Given the description of an element on the screen output the (x, y) to click on. 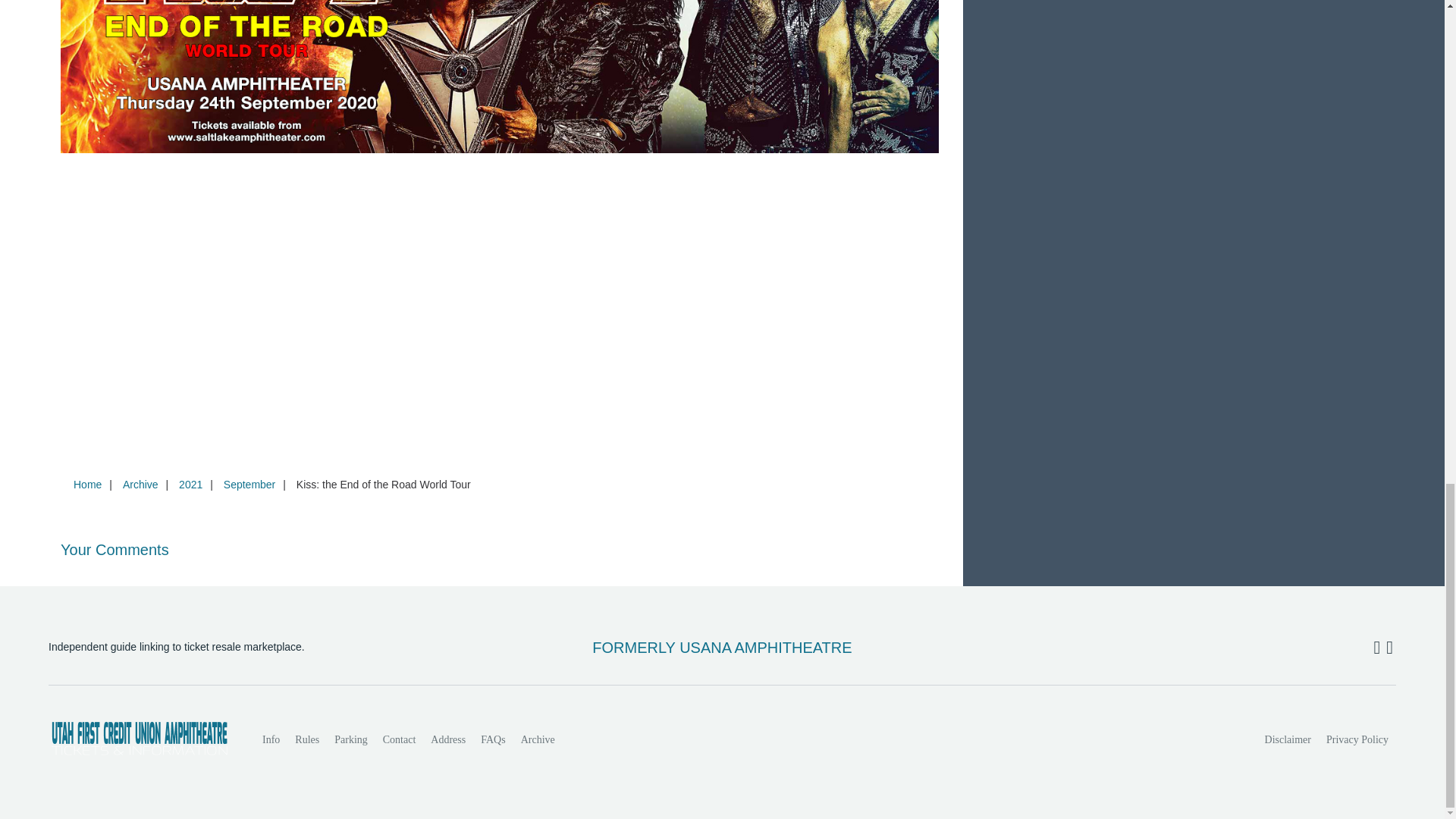
Archive (140, 484)
Disclaimer (1288, 739)
Home (87, 484)
Parking (350, 739)
2021 (190, 484)
Address (448, 739)
Info (270, 739)
Rules (306, 739)
Archive (537, 739)
Contact (399, 739)
September (248, 484)
Privacy Policy (1357, 739)
FAQs (492, 739)
